Given the description of an element on the screen output the (x, y) to click on. 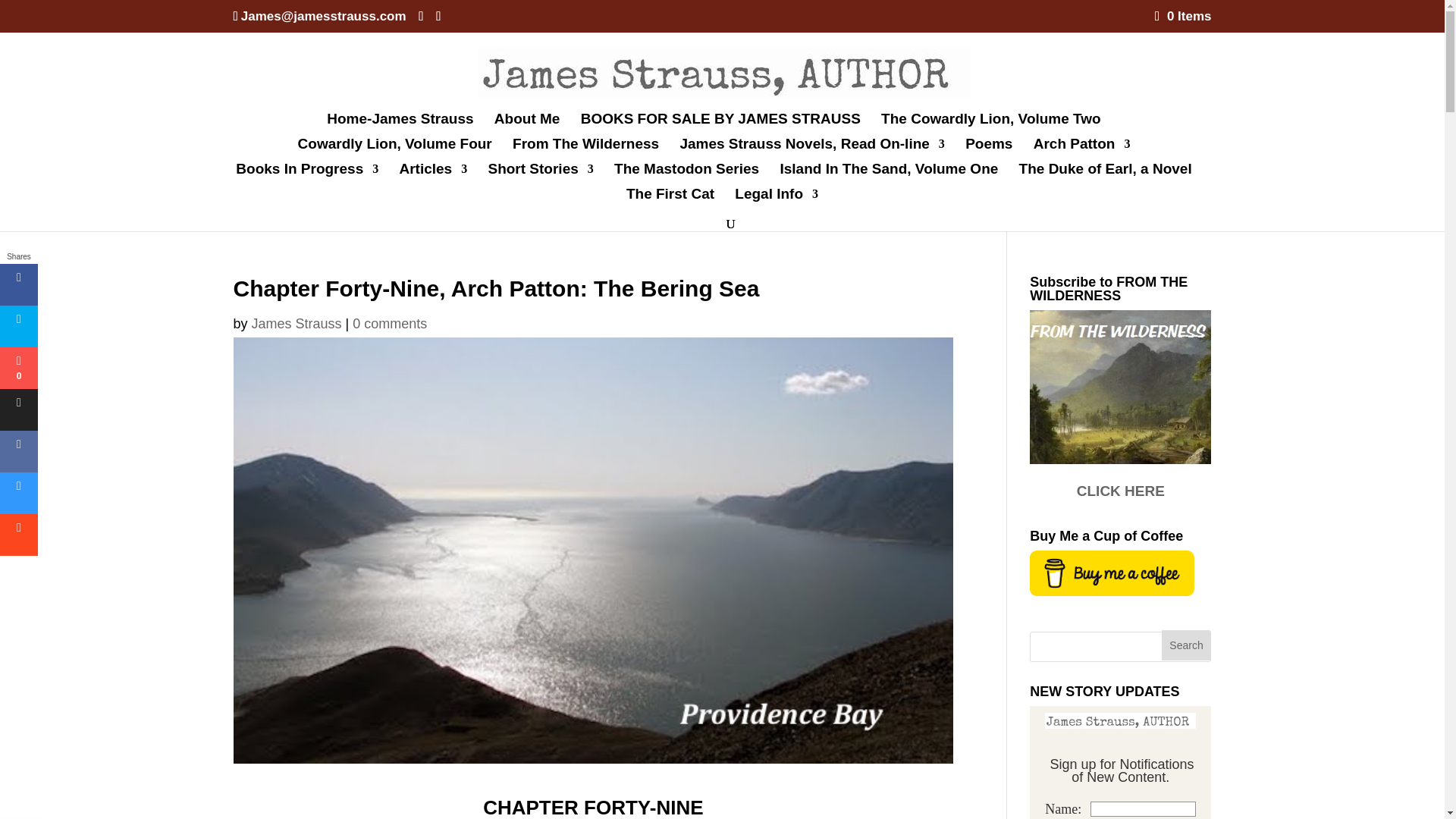
Posts by James Strauss (296, 322)
Books In Progress (306, 176)
Articles (432, 176)
Cowardly Lion, Volume Four (395, 150)
About Me (527, 125)
Search (1186, 644)
Arch Patton (1082, 150)
Poems (988, 150)
BOOKS FOR SALE BY JAMES STRAUSS (720, 125)
The Cowardly Lion, Volume Two (990, 125)
